Given the description of an element on the screen output the (x, y) to click on. 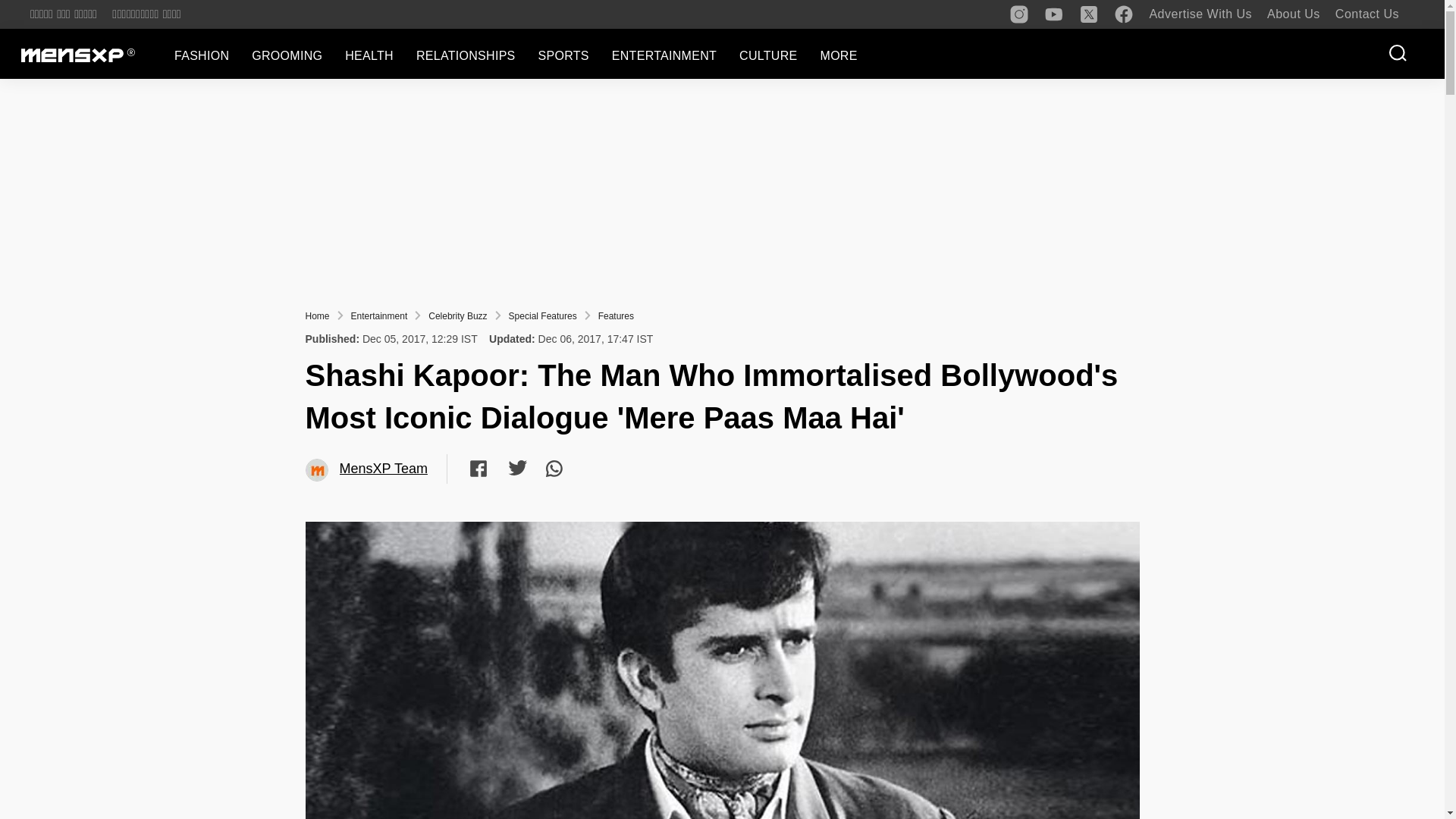
Special Features (542, 316)
Contact Us  (1367, 13)
Celebrity Buzz (457, 316)
MensXP Team (317, 470)
About Us (1293, 13)
Advertise With Us (1200, 13)
About Us (1293, 13)
Advertise With Us (1200, 13)
Features (615, 316)
Home (316, 316)
